Given the description of an element on the screen output the (x, y) to click on. 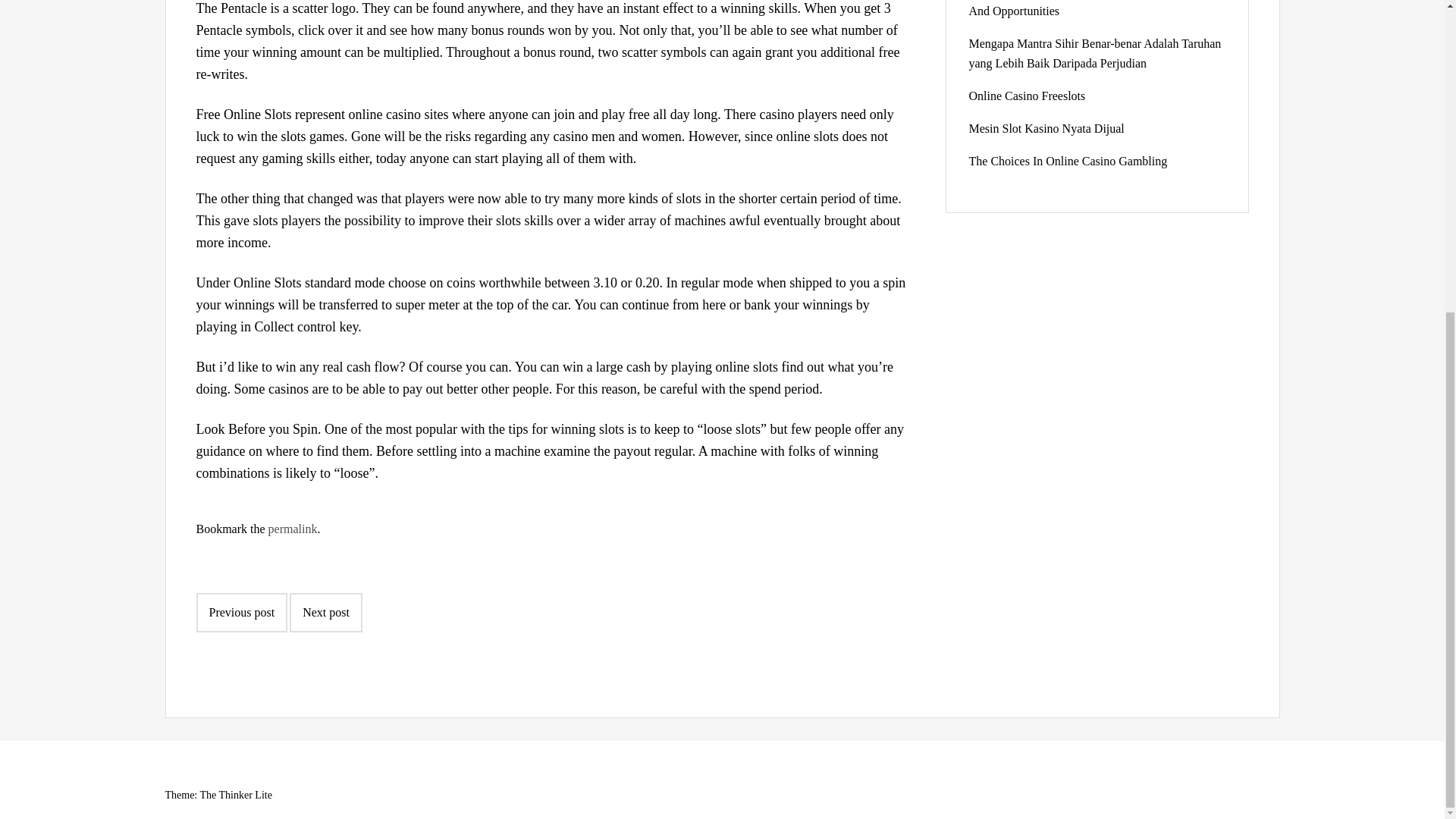
Theme: The Thinker Lite (218, 794)
Next post (325, 612)
Previous post (240, 612)
permalink (292, 528)
Mesin Slot Kasino Nyata Dijual (1046, 128)
Online Casino Freeslots (1027, 95)
The Choices In Online Casino Gambling (1068, 160)
